Given the description of an element on the screen output the (x, y) to click on. 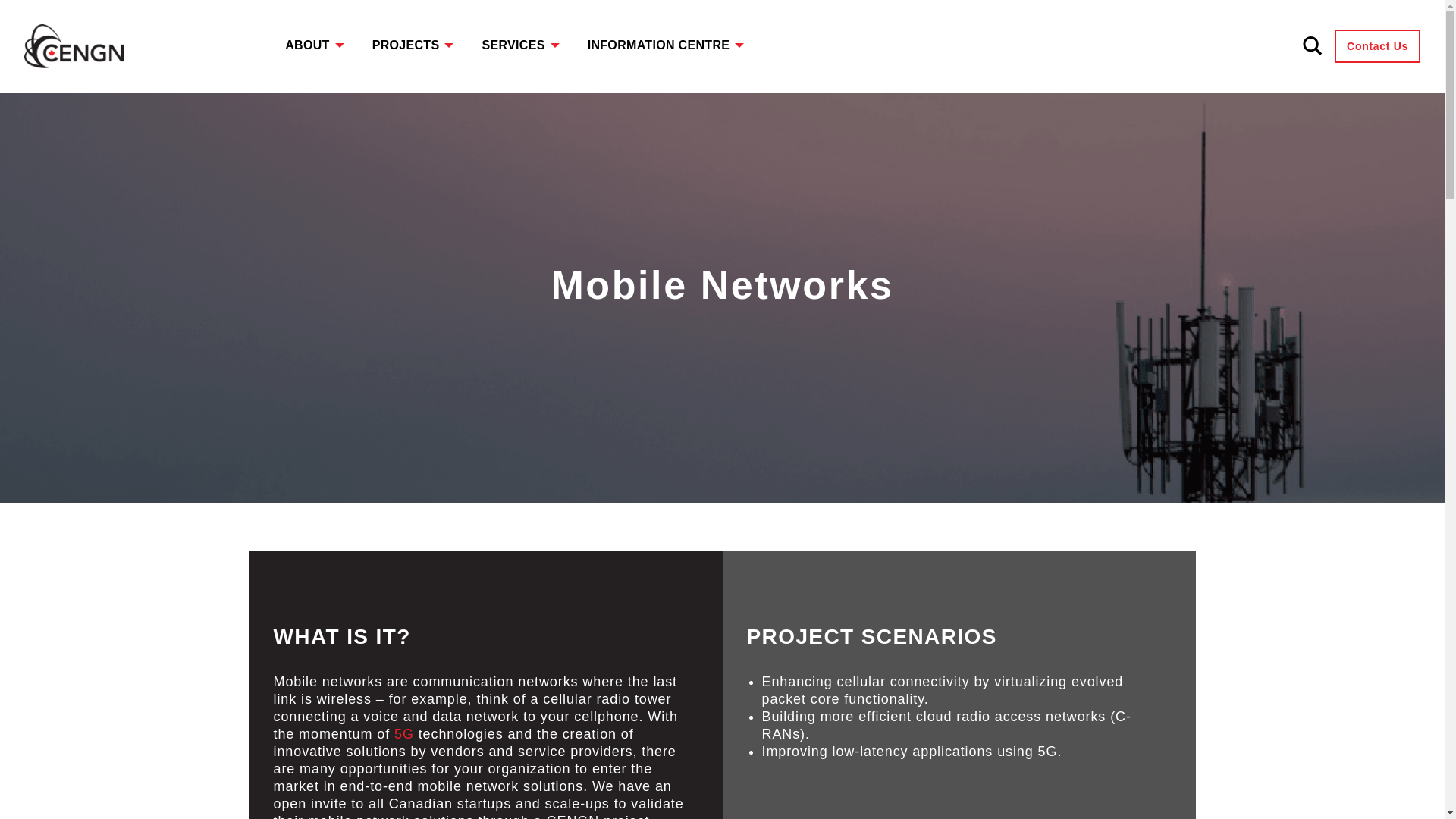
ABOUT (303, 44)
PROJECTS (402, 44)
Contact Us (1378, 46)
SERVICES (509, 44)
INFORMATION CENTRE (655, 44)
